Given the description of an element on the screen output the (x, y) to click on. 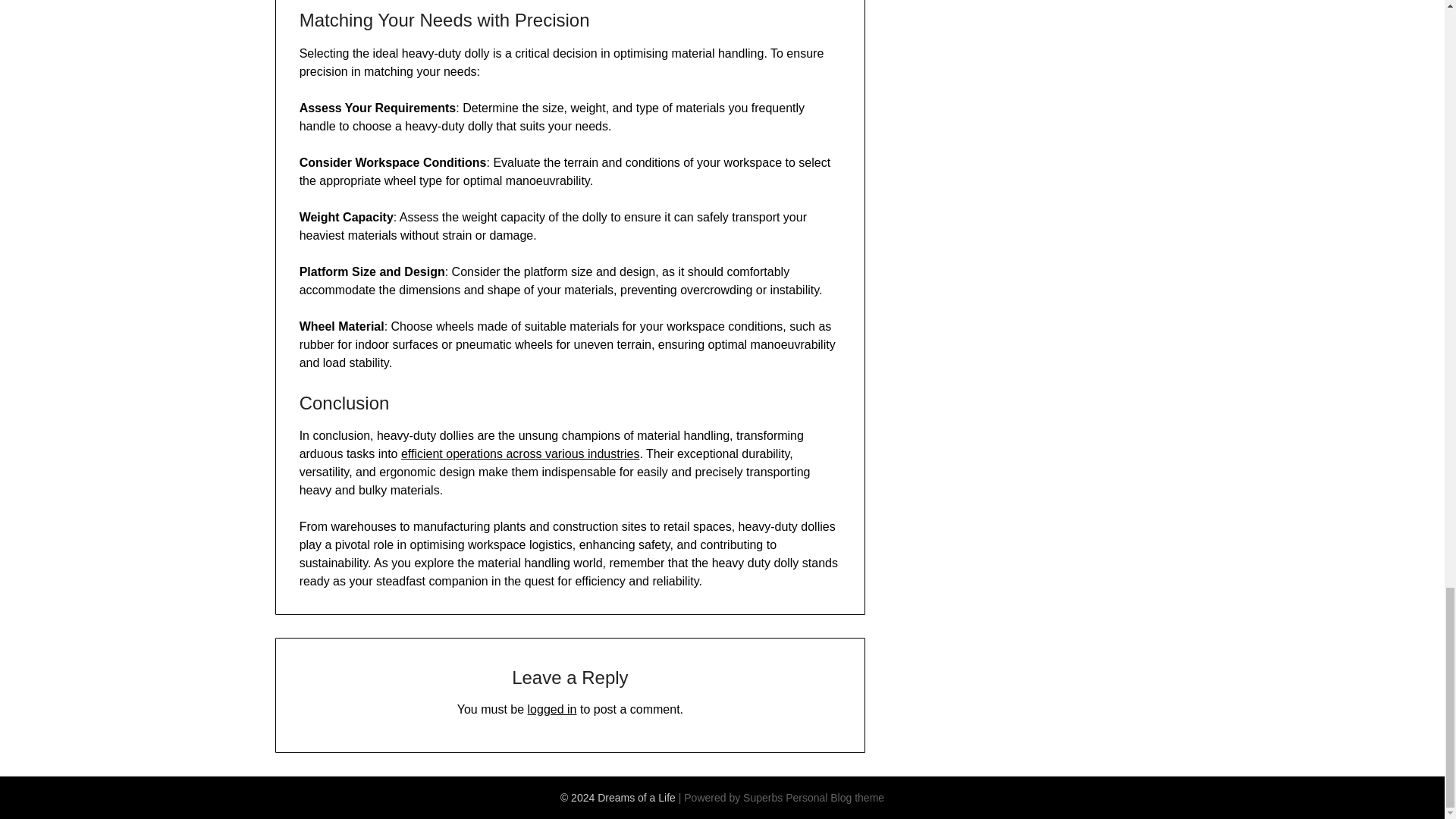
efficient operations across various industries (520, 453)
Personal Blog theme (834, 797)
logged in (551, 708)
